Given the description of an element on the screen output the (x, y) to click on. 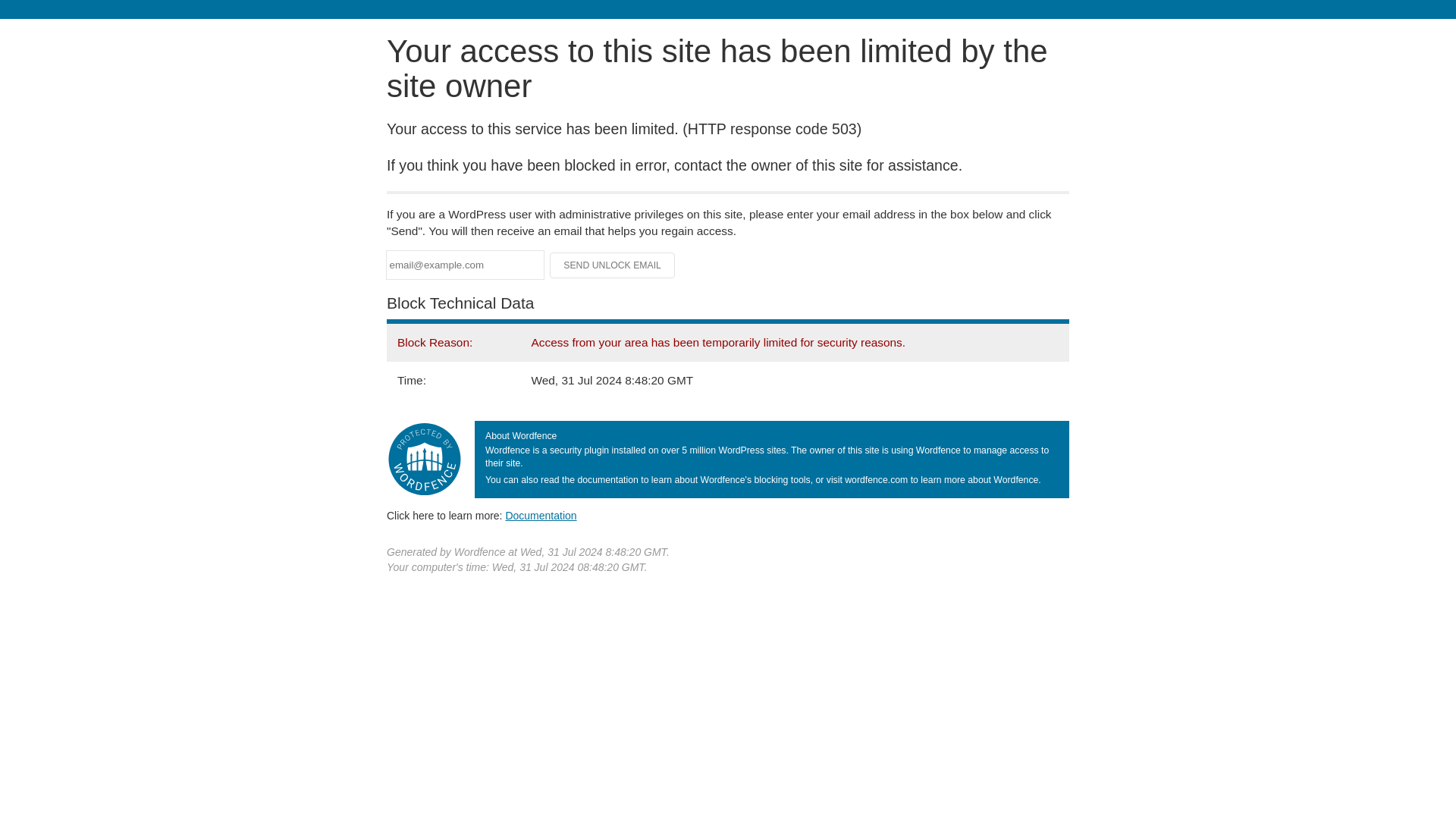
Documentation (540, 515)
Send Unlock Email (612, 265)
Send Unlock Email (612, 265)
